Given the description of an element on the screen output the (x, y) to click on. 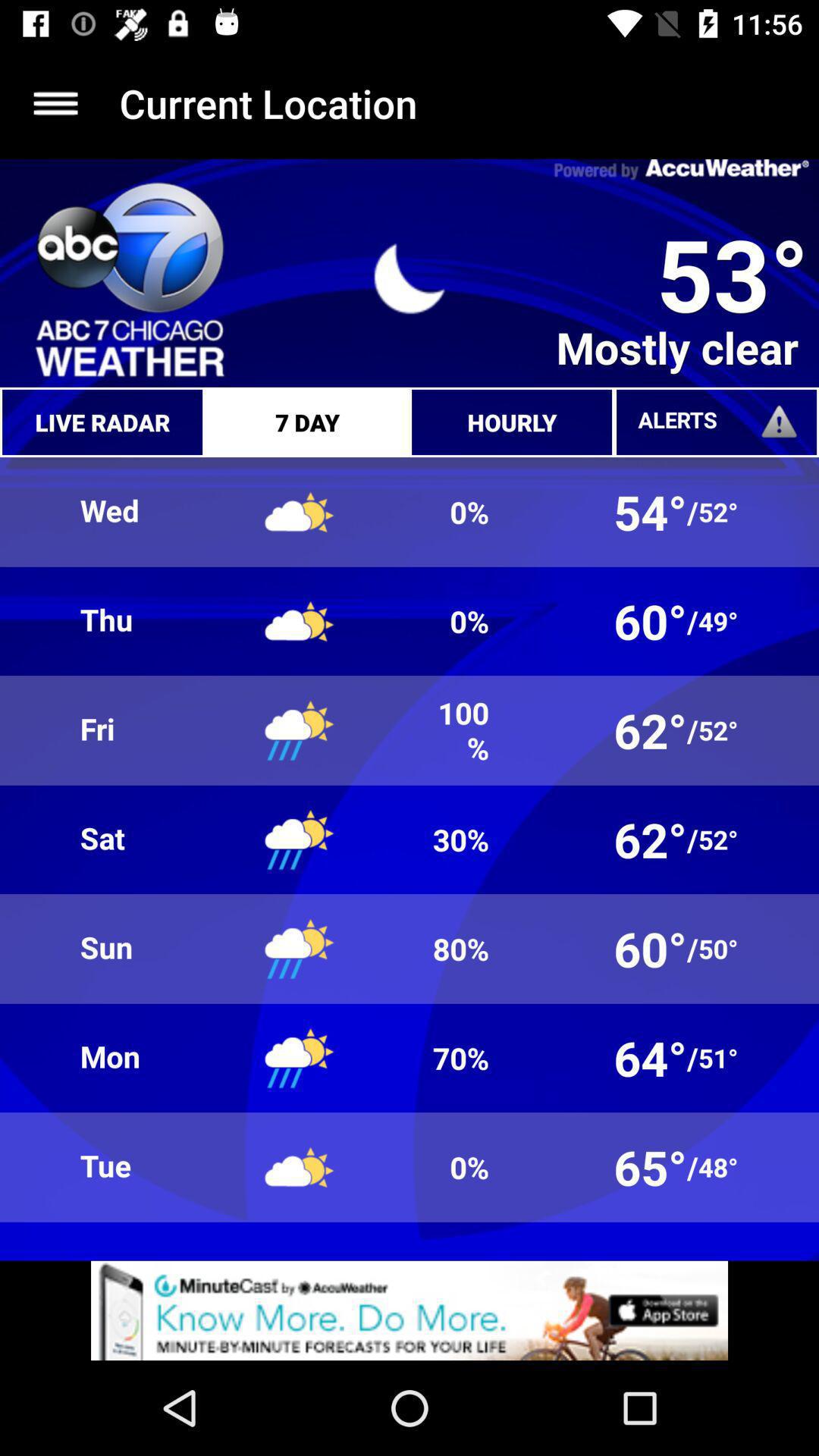
hamburger icon to check history setting etc (55, 103)
